Given the description of an element on the screen output the (x, y) to click on. 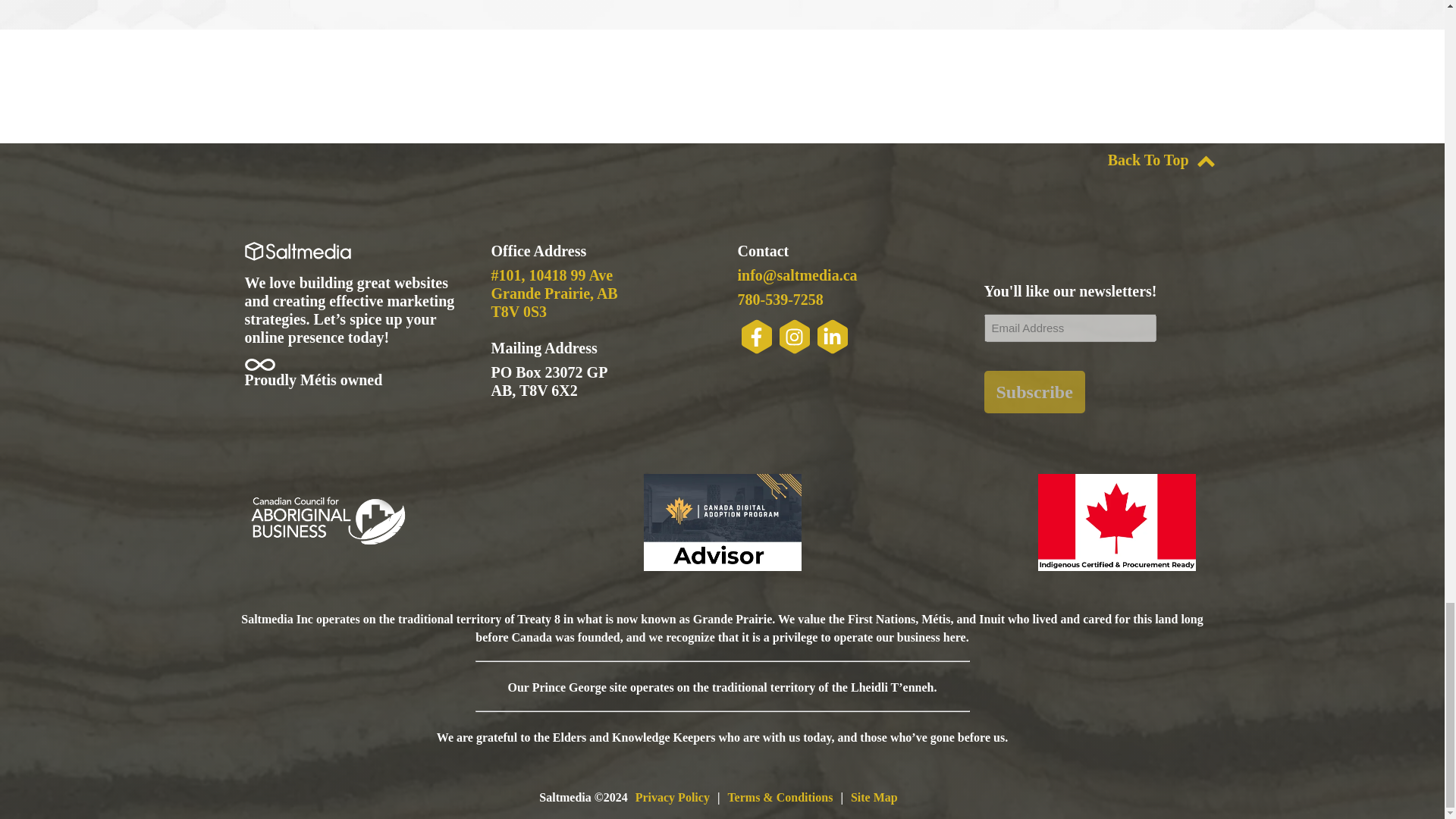
Subscribe (1034, 392)
Back To Top (1161, 159)
780-539-7258 (779, 299)
